Given the description of an element on the screen output the (x, y) to click on. 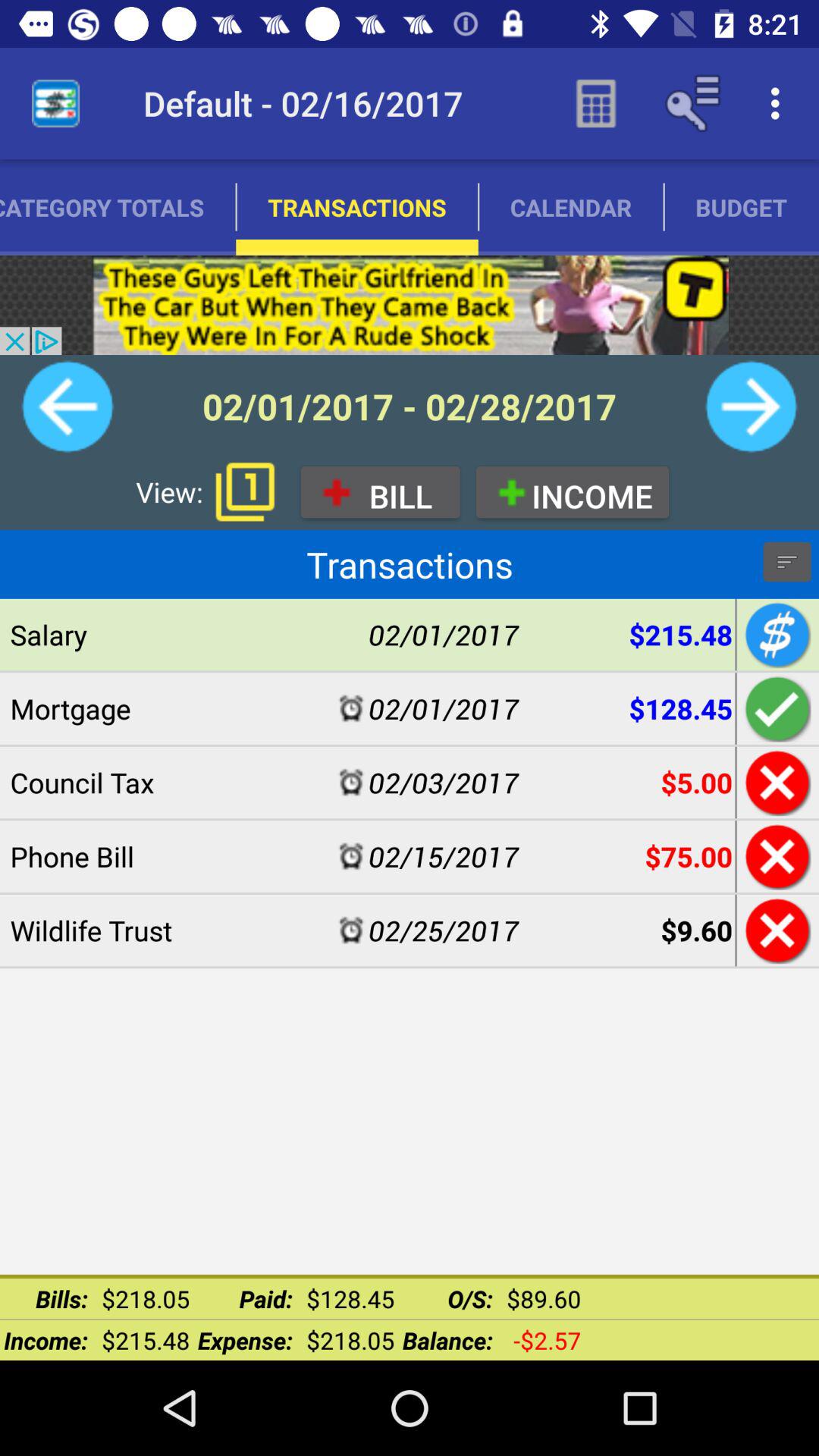
delete phone bill (775, 856)
